Given the description of an element on the screen output the (x, y) to click on. 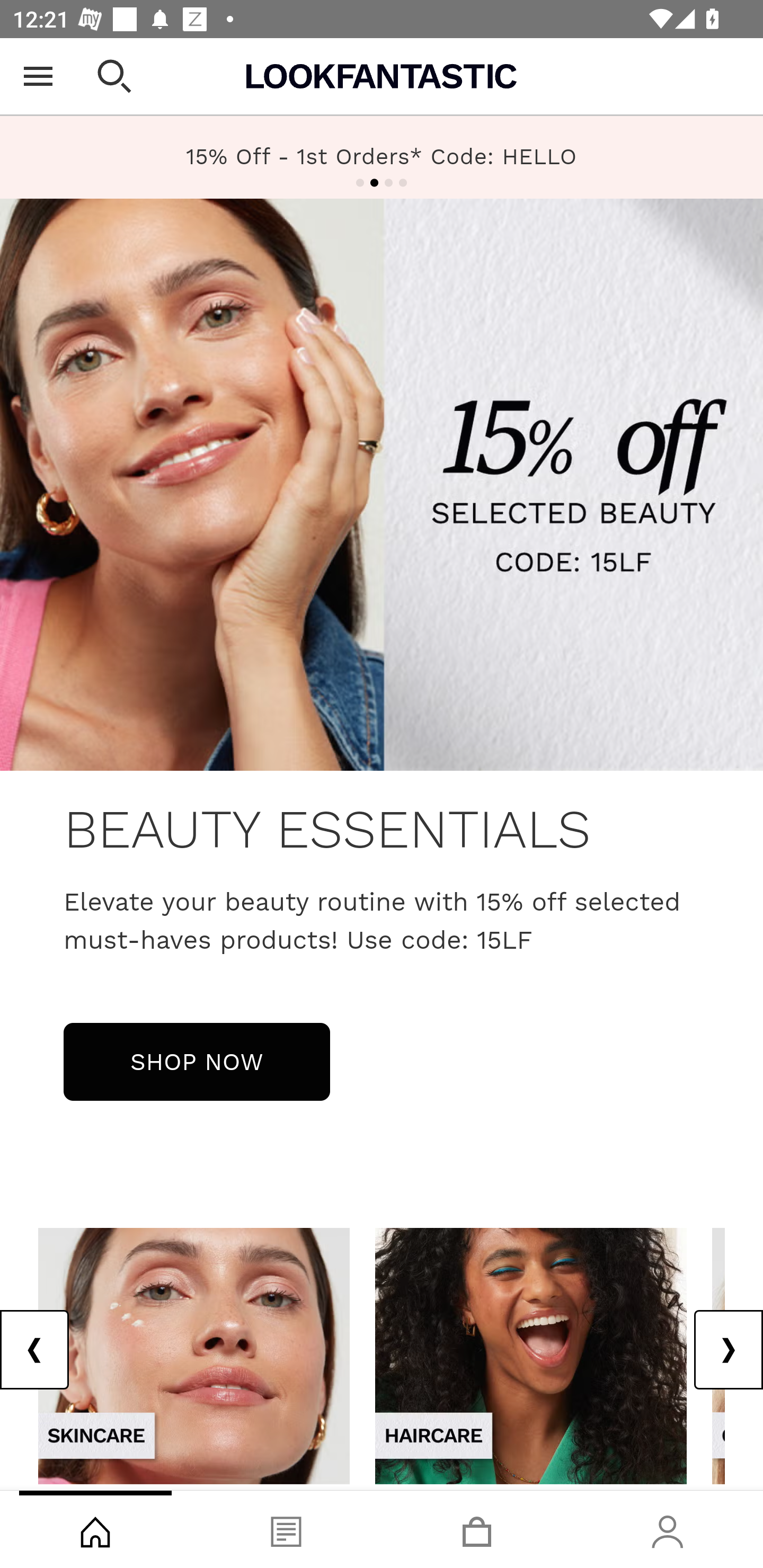
Open Menu (38, 75)
Open search (114, 75)
Lookfantastic USA (381, 75)
SHOP NOW (196, 1061)
view-all (193, 1355)
view-all (530, 1355)
Previous (35, 1349)
Next (727, 1349)
Shop, tab, 1 of 4 (95, 1529)
Blog, tab, 2 of 4 (285, 1529)
Basket, tab, 3 of 4 (476, 1529)
Account, tab, 4 of 4 (667, 1529)
